Given the description of an element on the screen output the (x, y) to click on. 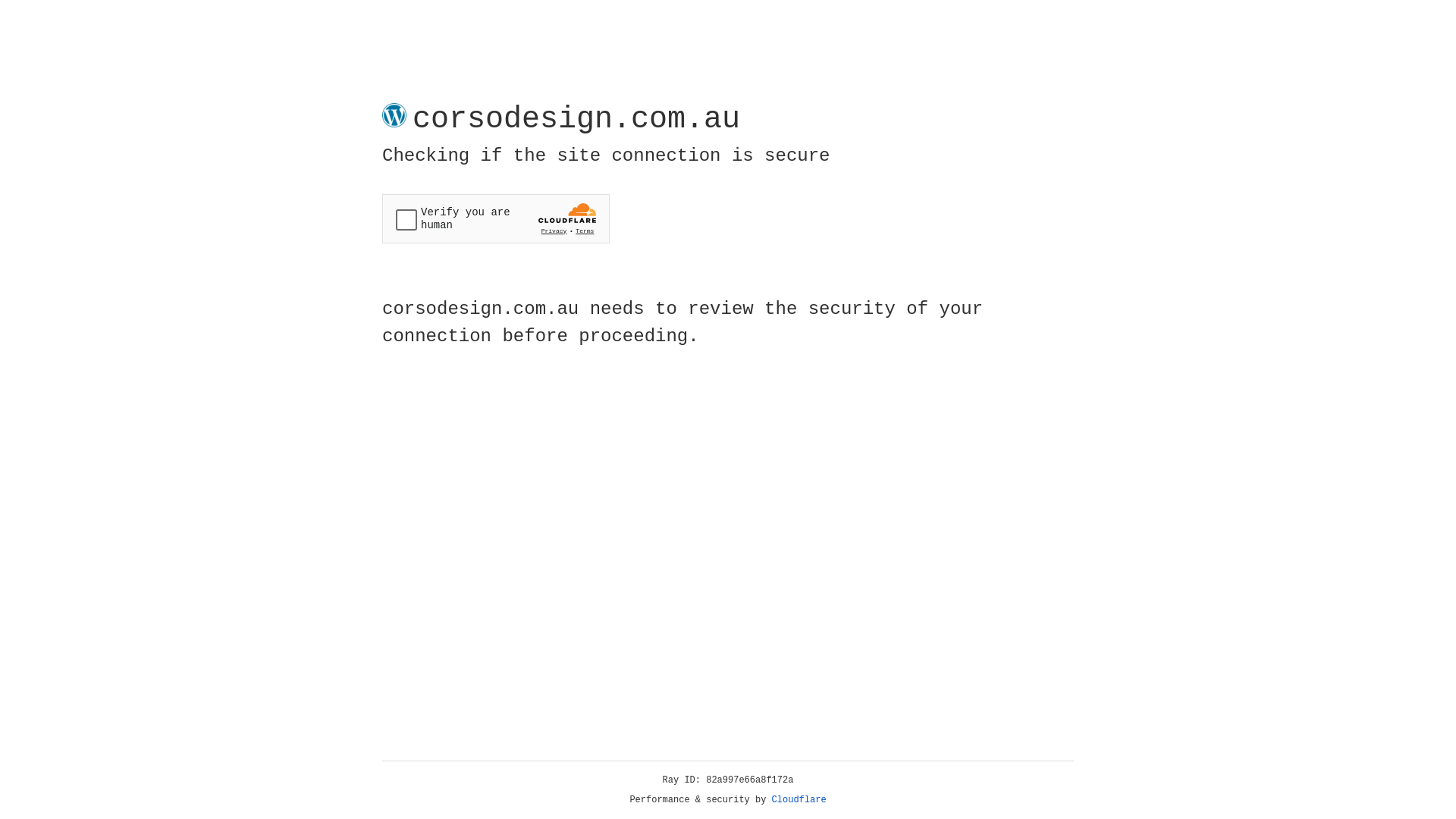
Widget containing a Cloudflare security challenge Element type: hover (495, 218)
Cloudflare Element type: text (798, 799)
